Given the description of an element on the screen output the (x, y) to click on. 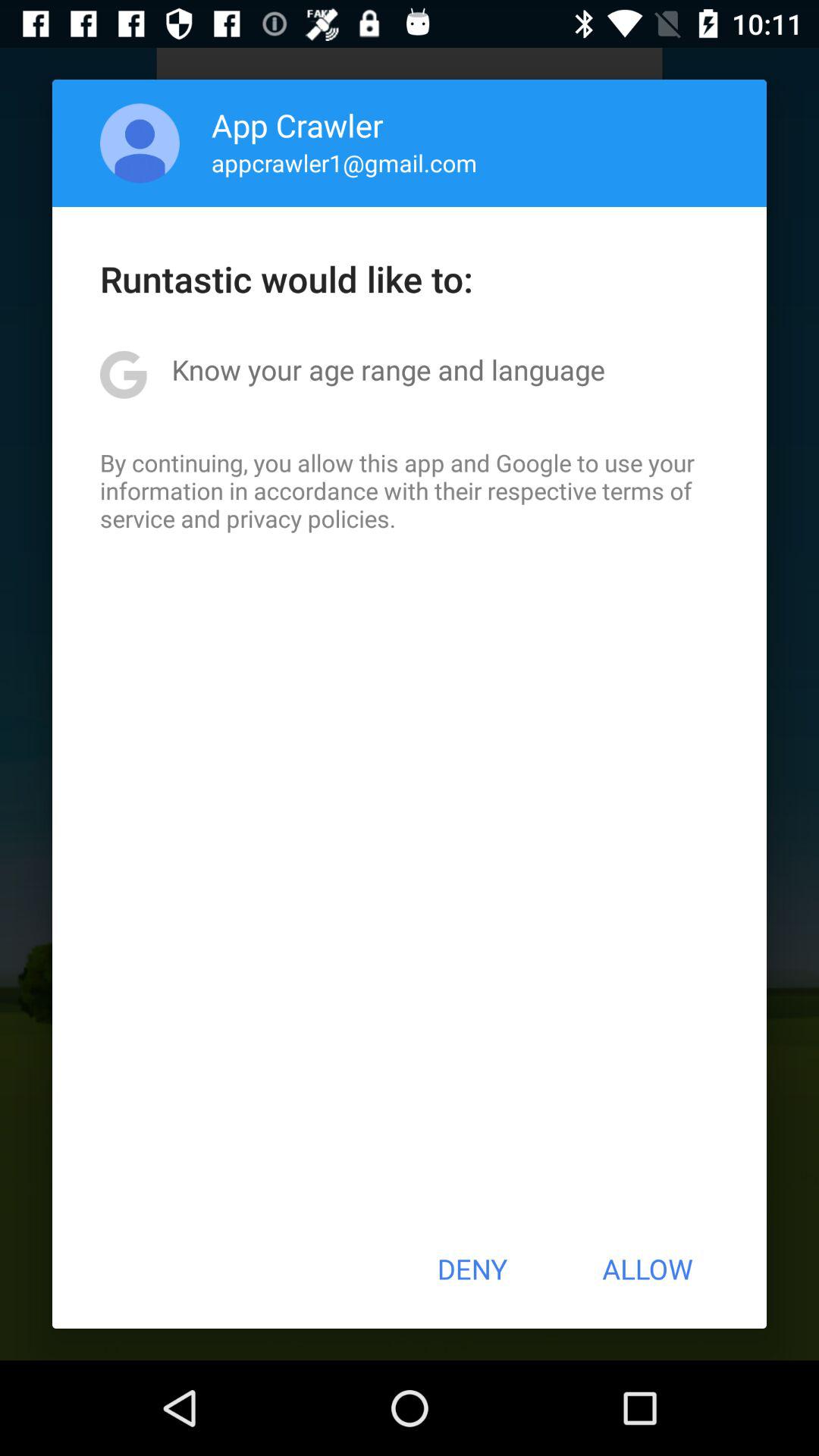
choose know your age app (388, 369)
